Given the description of an element on the screen output the (x, y) to click on. 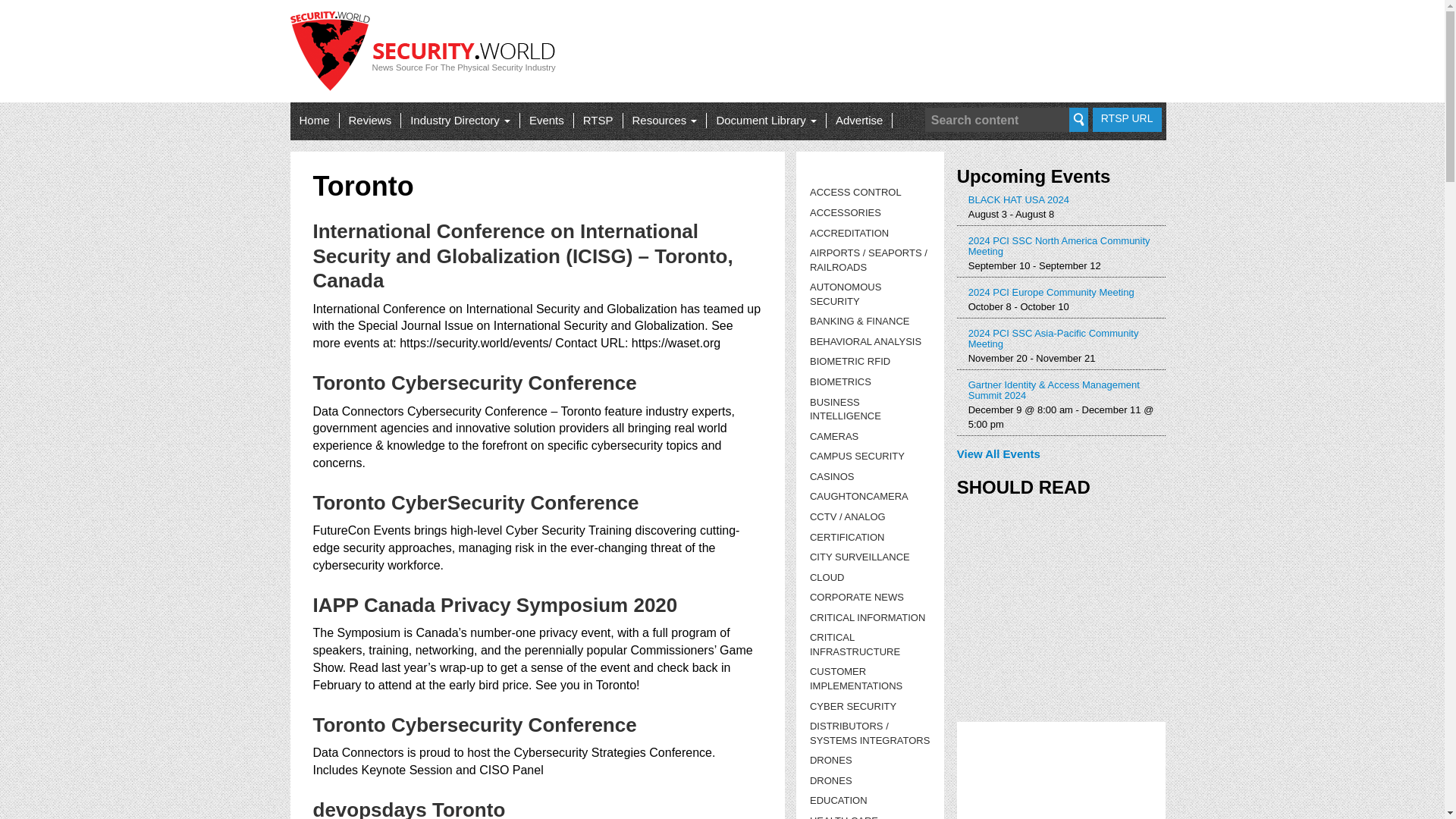
Industry Directory (460, 120)
Events (546, 120)
Home (313, 120)
Toronto Cybersecurity Conference (474, 382)
Toronto CyberSecurity Conference (476, 502)
Industry Directory (460, 120)
RTSP URL (1127, 119)
Advertise (859, 120)
Home (313, 120)
Events (546, 120)
Reviews (370, 120)
IAPP Canada Privacy Symposium 2020 (495, 604)
Resources (664, 120)
RTSP (598, 120)
RTSP (598, 120)
